Given the description of an element on the screen output the (x, y) to click on. 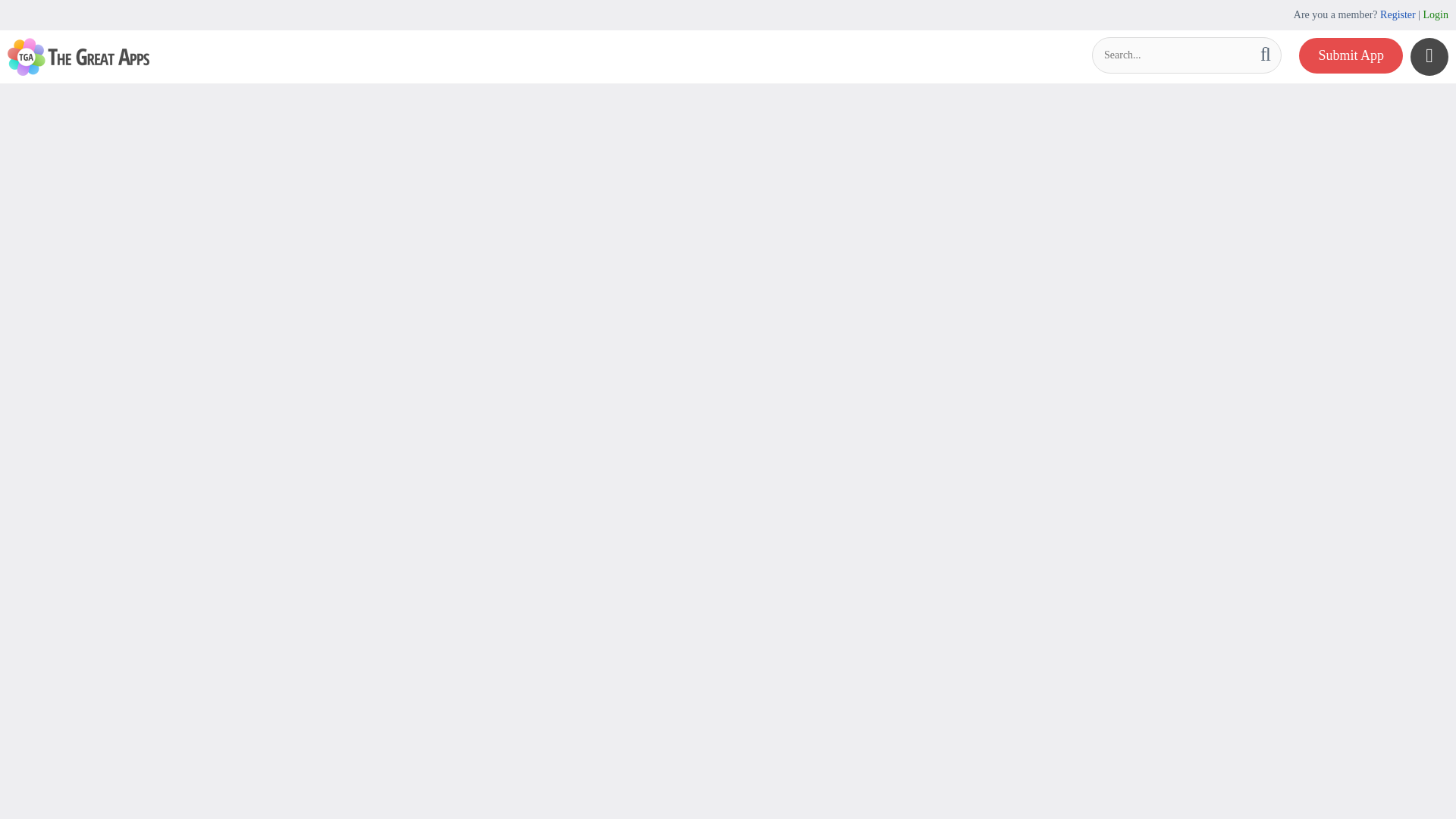
Submit App (1350, 55)
Login (1435, 14)
The Great Apps (78, 56)
Register (1397, 14)
